Given the description of an element on the screen output the (x, y) to click on. 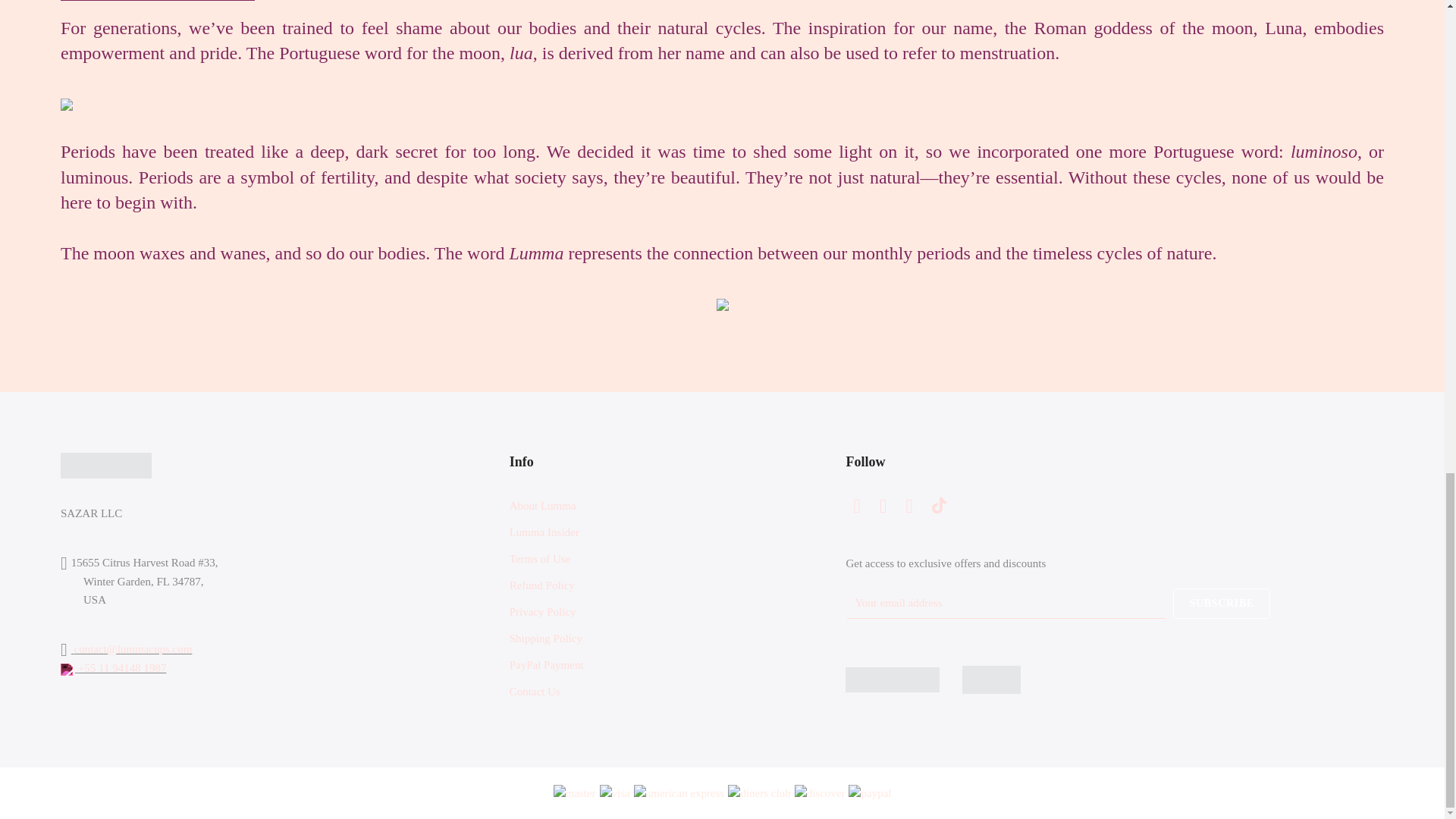
SUBSCRIBE (1221, 603)
Lumma Insider (544, 532)
Contact Us (534, 691)
Privacy Policy (542, 612)
Refund Policy (542, 585)
Terms of Use (539, 558)
Shipping Policy (545, 638)
PayPal Payment (546, 664)
About Lumma (542, 505)
